Given the description of an element on the screen output the (x, y) to click on. 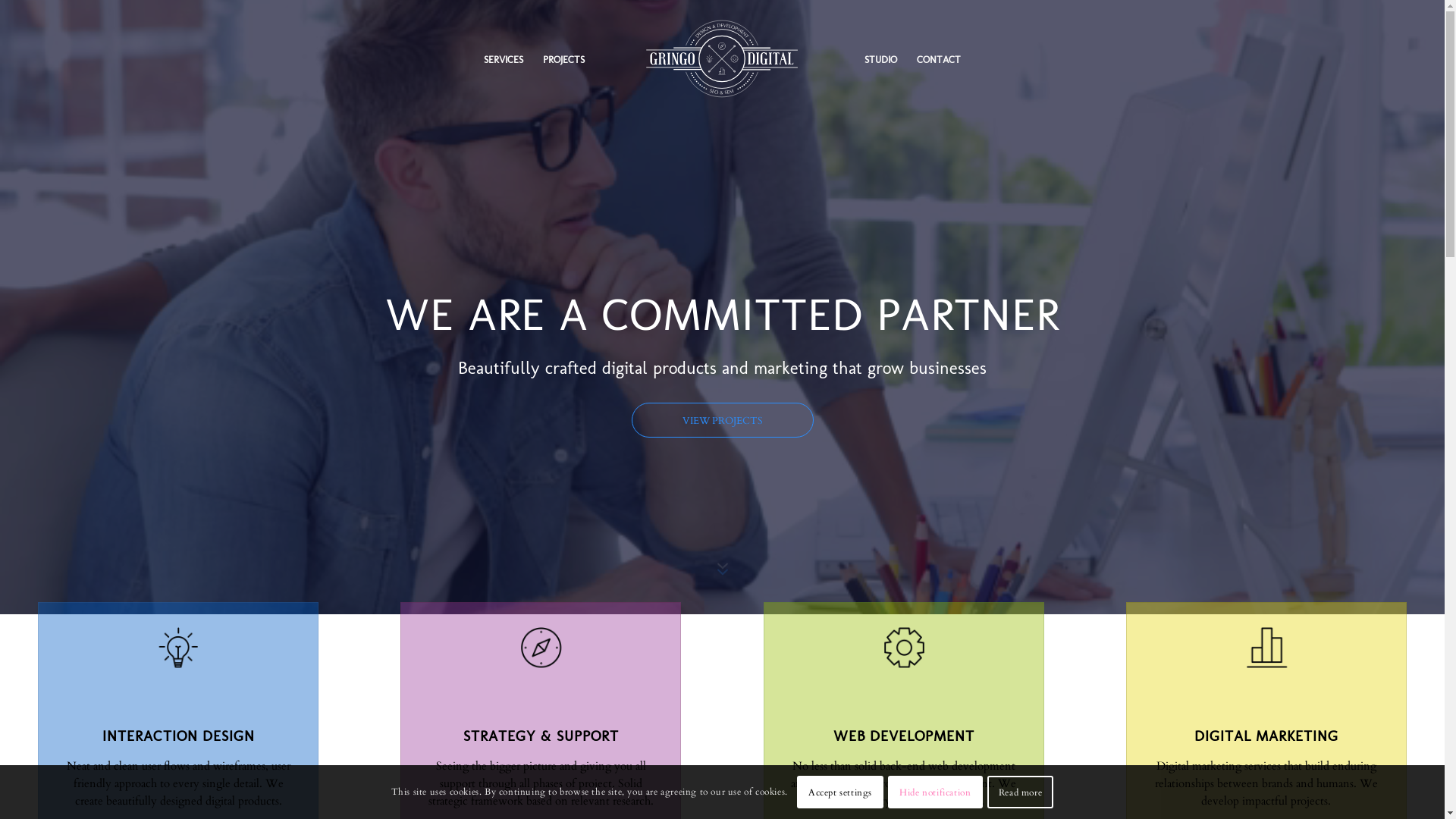
Digital Web Solutions Element type: hover (686, 154)
Read more Element type: text (1020, 791)
STUDIO Element type: text (880, 154)
VIEW PROJECTS Element type: text (721, 419)
Accept settings Element type: text (840, 791)
SERVICES Element type: text (503, 154)
Hide notification Element type: text (935, 791)
CONTACT Element type: text (938, 154)
PROJECTS Element type: text (563, 154)
